Given the description of an element on the screen output the (x, y) to click on. 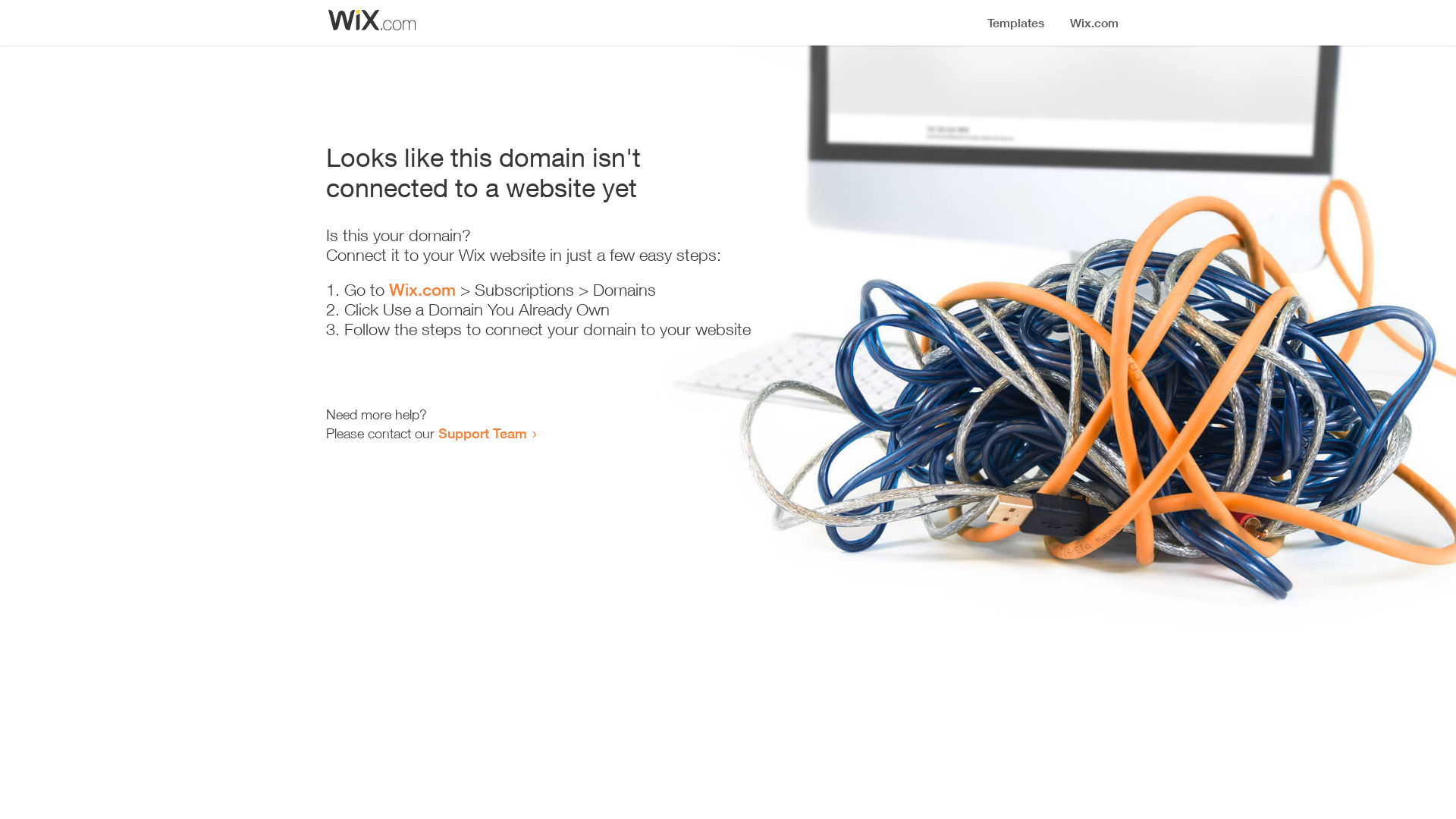
Support Team Element type: text (482, 432)
Wix.com Element type: text (422, 289)
